Given the description of an element on the screen output the (x, y) to click on. 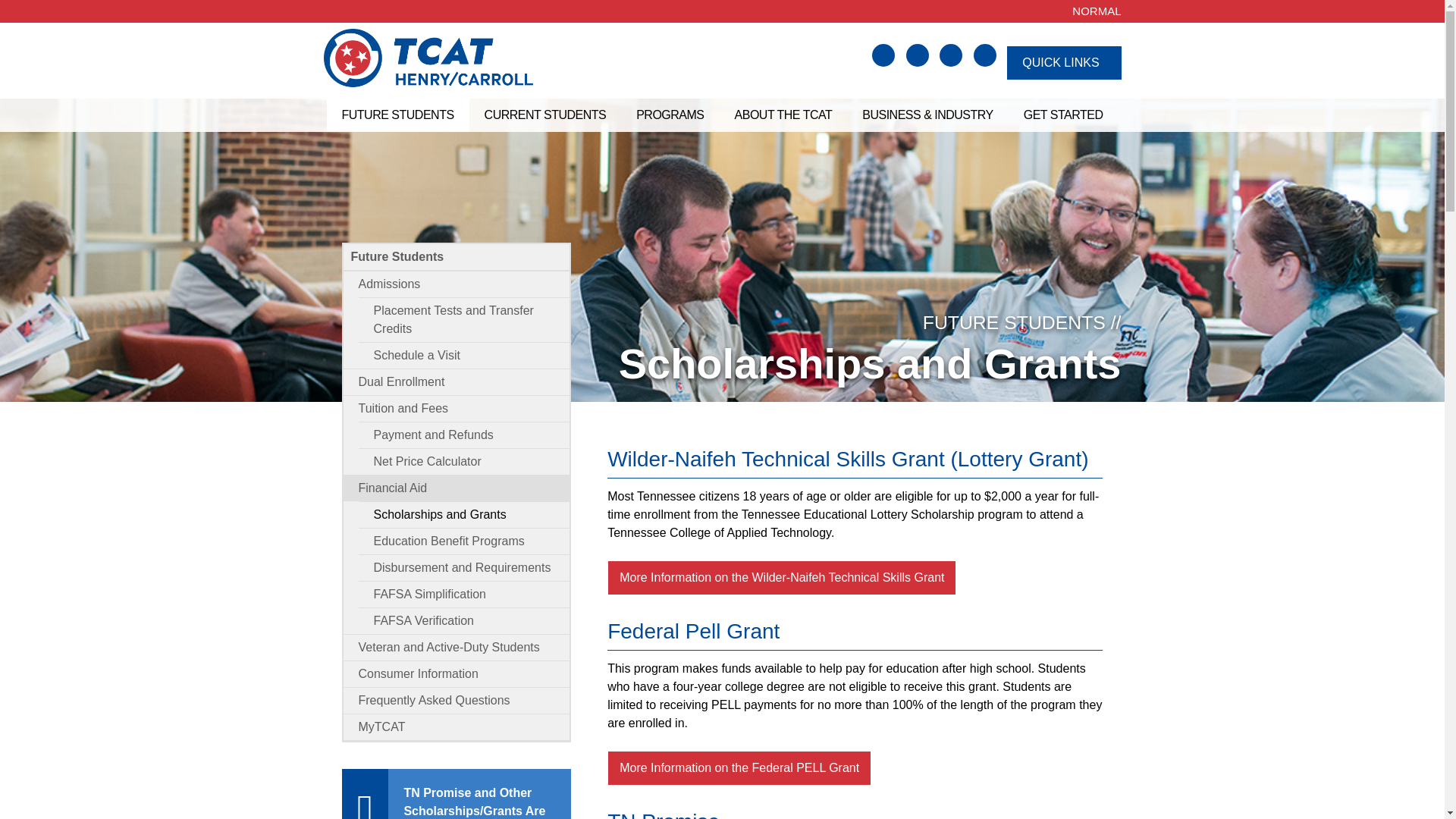
MyTCAT (984, 55)
QUICK LINKS   (1064, 62)
CURRENT STUDENTS (544, 114)
Support the College (950, 55)
Search (883, 55)
FUTURE STUDENTS (397, 114)
NORMAL (1096, 10)
Search (31, 18)
Contact Us (916, 55)
